Given the description of an element on the screen output the (x, y) to click on. 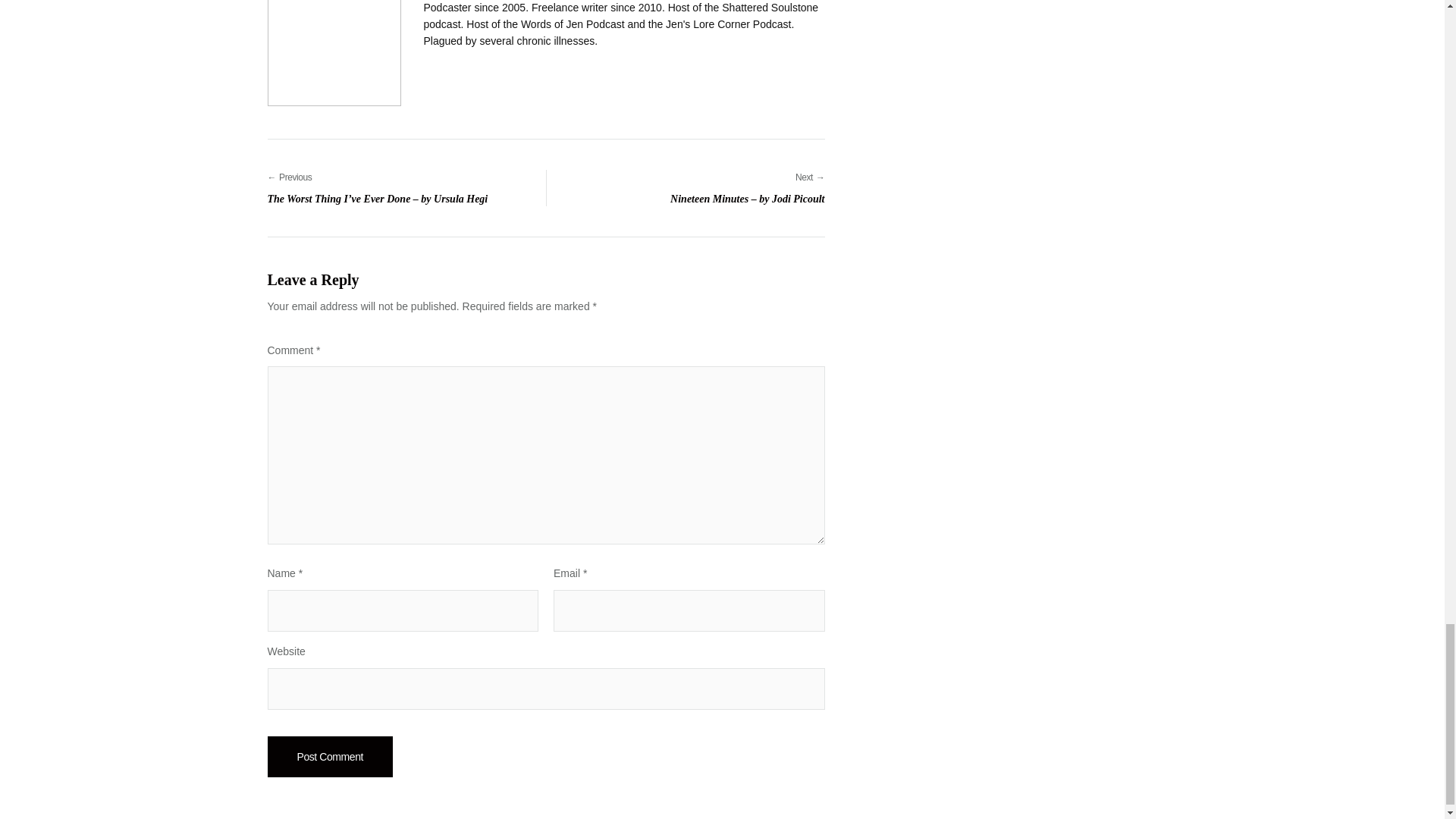
Post Comment (329, 756)
Post Comment (329, 756)
